Given the description of an element on the screen output the (x, y) to click on. 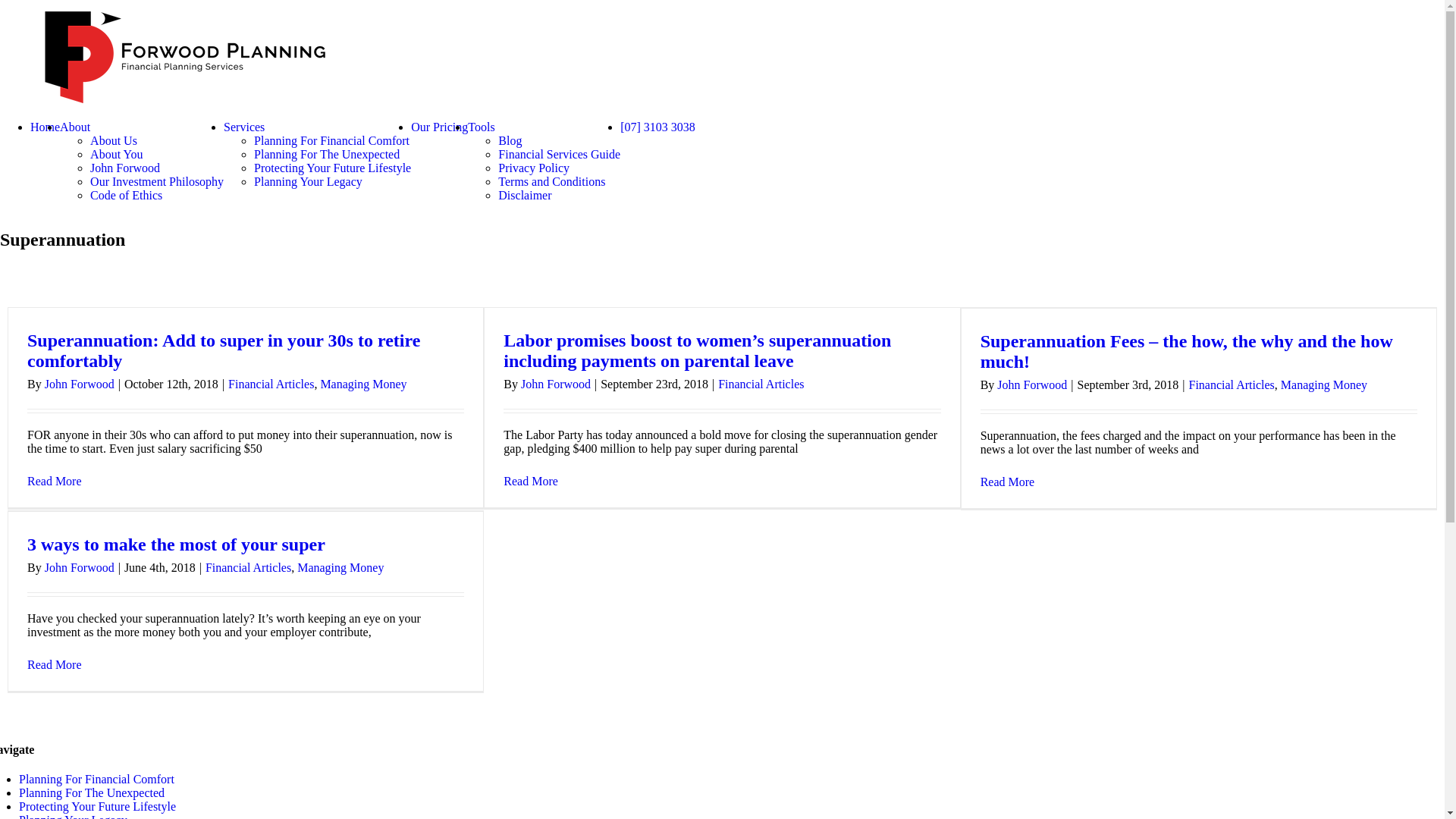
Privacy Policy Element type: text (533, 167)
Managing Money Element type: text (340, 567)
Read More Element type: text (54, 480)
About Element type: text (74, 126)
Protecting Your Future Lifestyle Element type: text (332, 167)
Read More Element type: text (530, 480)
Our Pricing Element type: text (439, 126)
Disclaimer Element type: text (524, 194)
Code of Ethics Element type: text (126, 194)
Protecting Your Future Lifestyle Element type: text (96, 806)
John Forwood Element type: text (79, 383)
Terms and Conditions Element type: text (551, 181)
Managing Money Element type: text (363, 383)
Financial Articles Element type: text (248, 567)
John Forwood Element type: text (125, 167)
Planning For Financial Comfort Element type: text (96, 778)
3 ways to make the most of your super Element type: text (176, 544)
Financial Services Guide Element type: text (559, 153)
John Forwood Element type: text (555, 383)
Our Investment Philosophy Element type: text (156, 181)
Planning For The Unexpected Element type: text (91, 792)
Home Element type: text (44, 126)
Read More Element type: text (54, 664)
Services Element type: text (243, 126)
Tools Element type: text (480, 126)
Blog Element type: text (509, 140)
Managing Money Element type: text (1323, 384)
Read More Element type: text (1007, 481)
John Forwood Element type: text (79, 567)
Financial Articles Element type: text (270, 383)
Planning For The Unexpected Element type: text (326, 153)
Planning Your Legacy Element type: text (308, 181)
Planning For Financial Comfort Element type: text (331, 140)
About You Element type: text (116, 153)
Financial Articles Element type: text (1231, 384)
About Us Element type: text (113, 140)
John Forwood Element type: text (1031, 384)
[07] 3103 3038 Element type: text (657, 126)
Financial Articles Element type: text (760, 383)
